Given the description of an element on the screen output the (x, y) to click on. 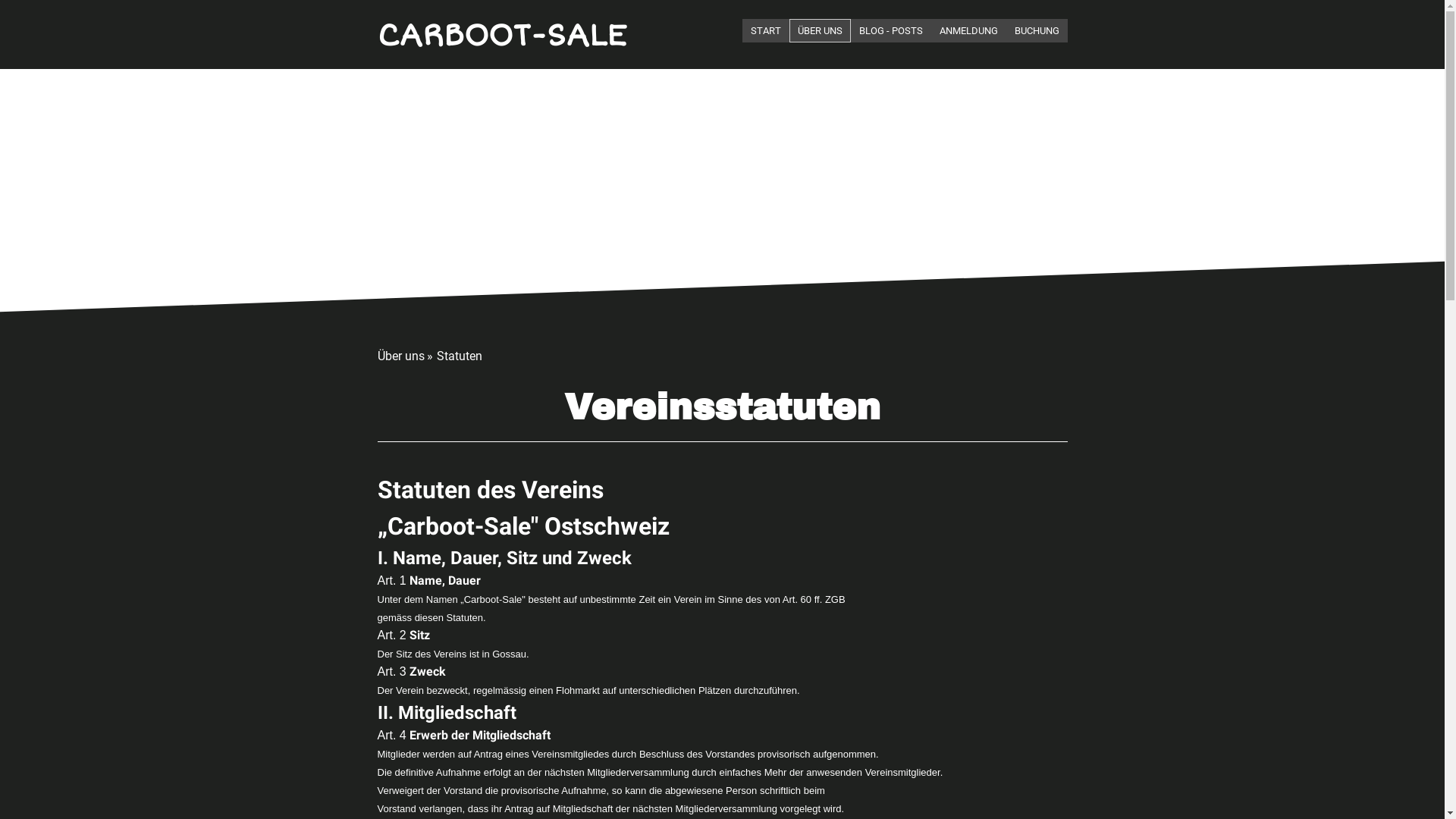
Statuten Element type: text (462, 356)
ANMELDUNG Element type: text (968, 30)
BLOG - POSTS Element type: text (890, 30)
BUCHUNG Element type: text (1035, 30)
CARBOOT-SALE Element type: text (501, 36)
START Element type: text (764, 30)
